Given the description of an element on the screen output the (x, y) to click on. 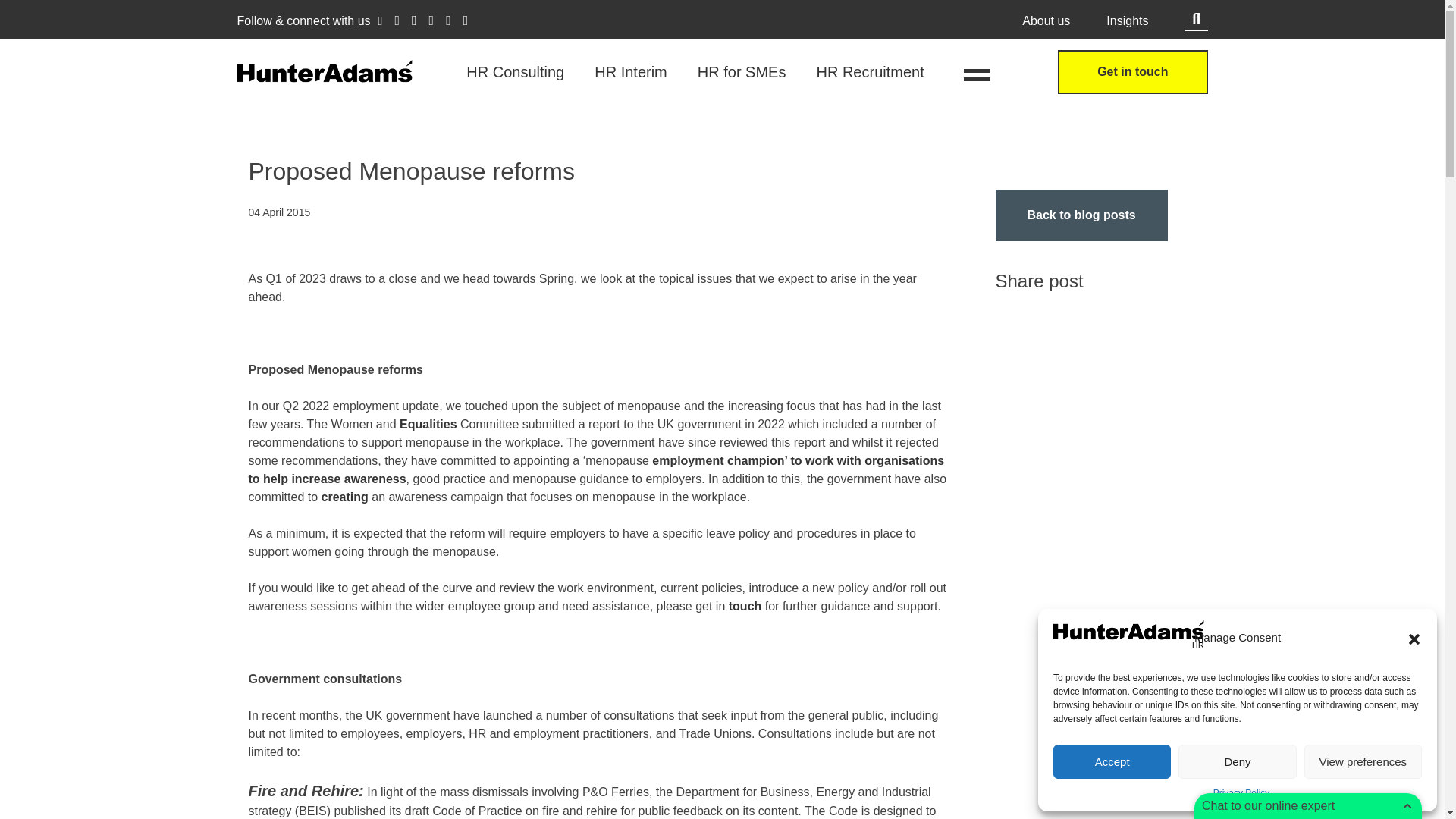
About us (1046, 21)
Privacy Policy (1240, 793)
Insights (1127, 21)
Deny (1236, 761)
Accept (1111, 761)
HR for SMEs (741, 71)
HR Recruitment (869, 71)
HR Consulting (514, 71)
HR Interim (630, 71)
View preferences (1363, 761)
